Given the description of an element on the screen output the (x, y) to click on. 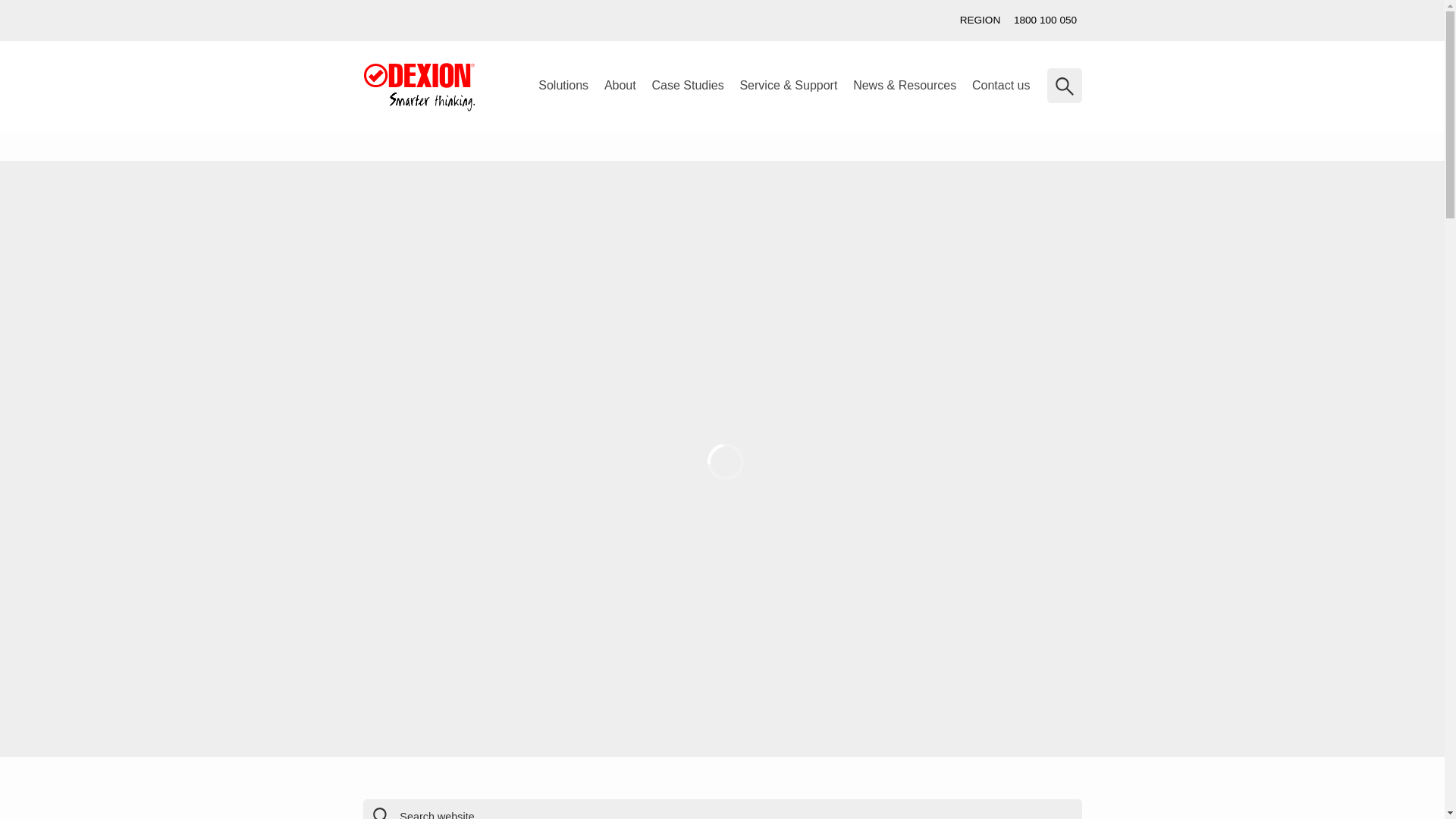
News & Resources Element type: text (904, 85)
Solutions Element type: text (563, 85)
1800 100 050 Element type: text (1045, 20)
Dexion - Global Storage solutions Element type: hover (418, 87)
About Element type: text (619, 85)
Contact us Element type: text (62, 288)
REGION Element type: text (980, 20)
Contact us Element type: text (1001, 85)
Service & Support Element type: text (788, 85)
Case Studies Element type: text (687, 85)
